Given the description of an element on the screen output the (x, y) to click on. 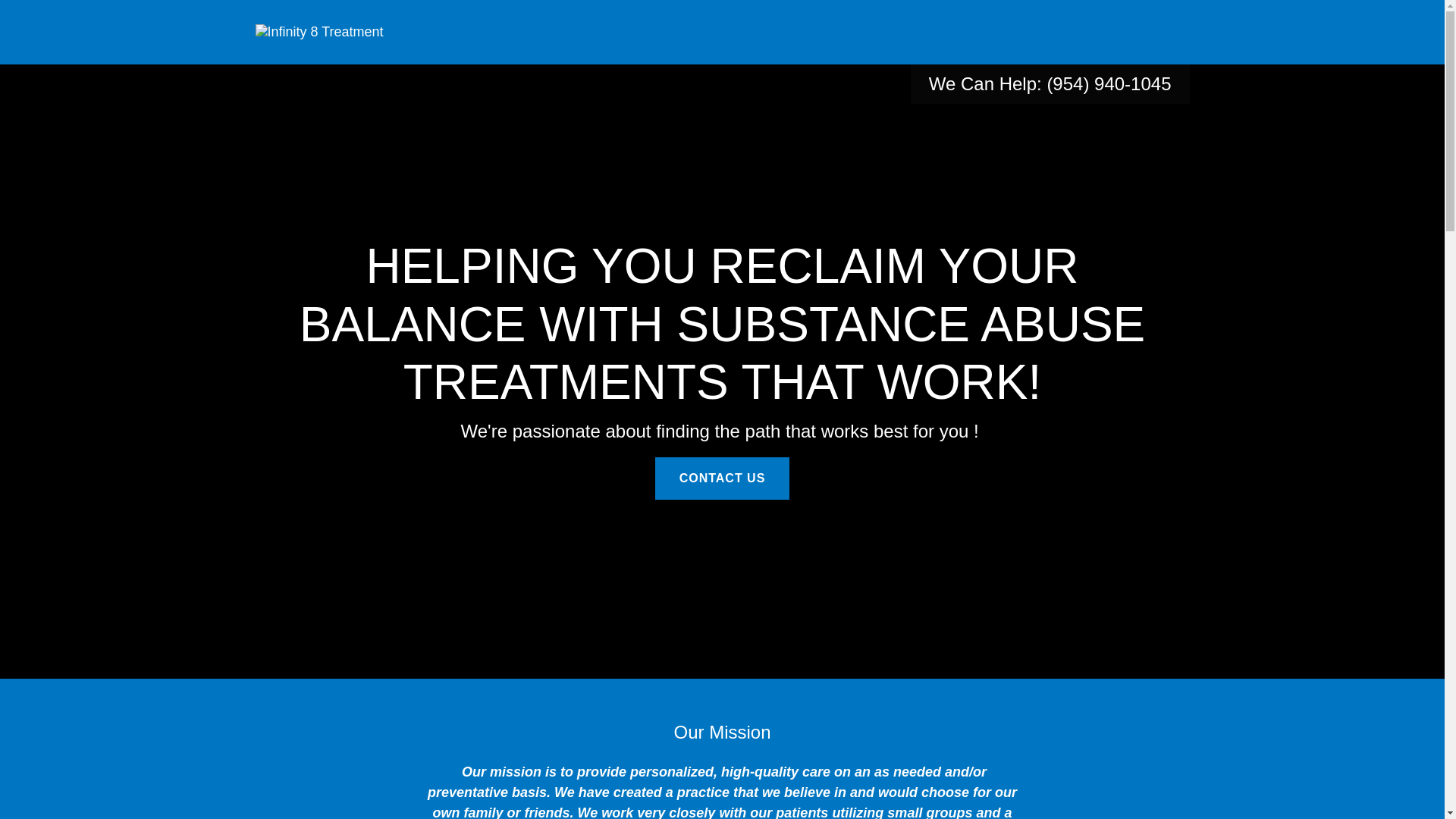
CONTACT US (722, 478)
Infinity 8 Treatment (318, 31)
